Given the description of an element on the screen output the (x, y) to click on. 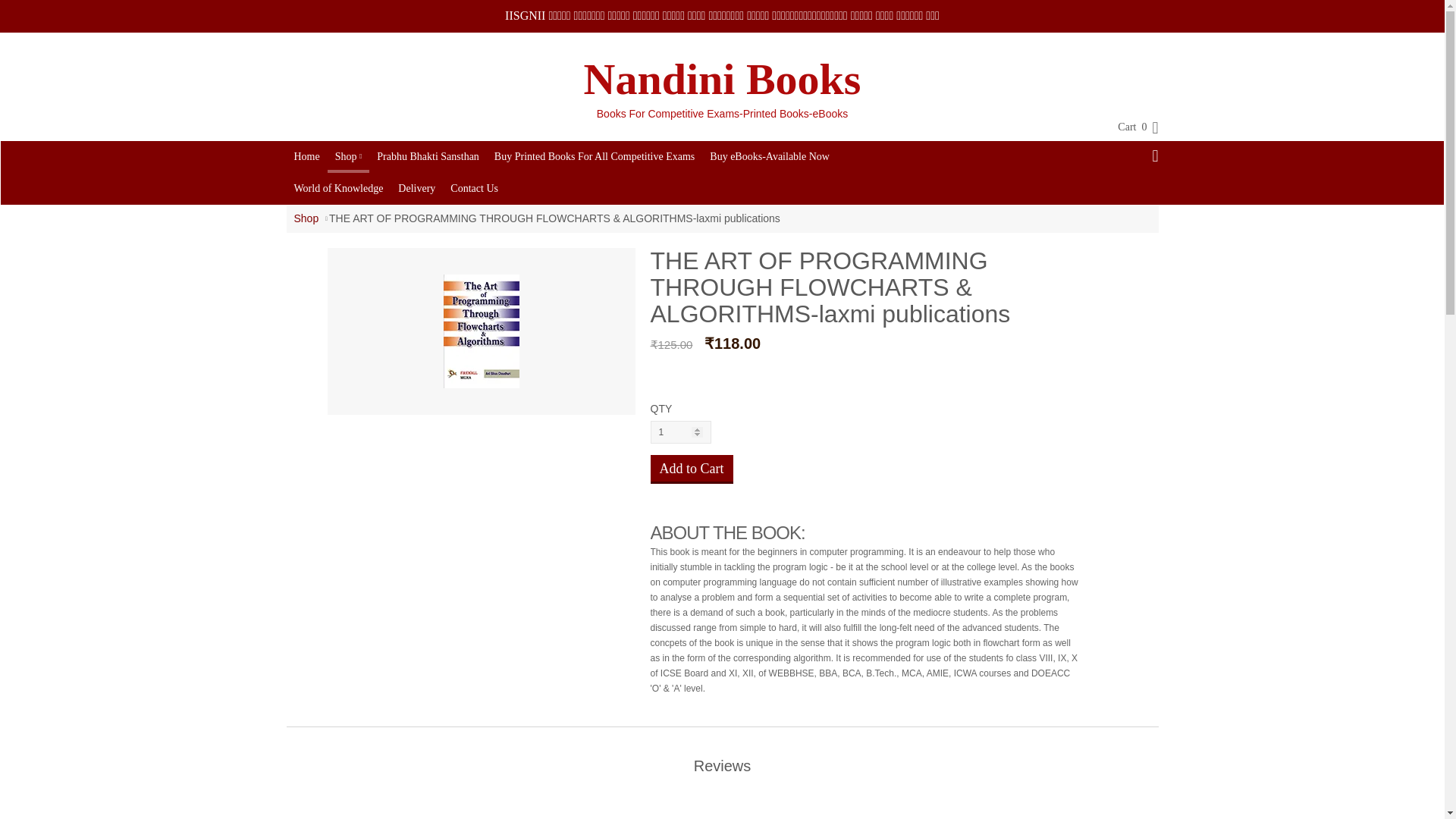
Add to Cart (691, 469)
World of Knowledge (338, 188)
Buy Printed Books For All Competitive Exams (593, 156)
Prabhu Bhakti Sansthan (427, 156)
Home (306, 156)
Cart  0   (1129, 126)
Shop (306, 218)
Buy eBooks-Available Now (769, 156)
Add to Cart (691, 469)
Delivery (416, 188)
Nandini Books (722, 79)
Contact Us (473, 188)
Shop (348, 154)
1 (680, 431)
